Given the description of an element on the screen output the (x, y) to click on. 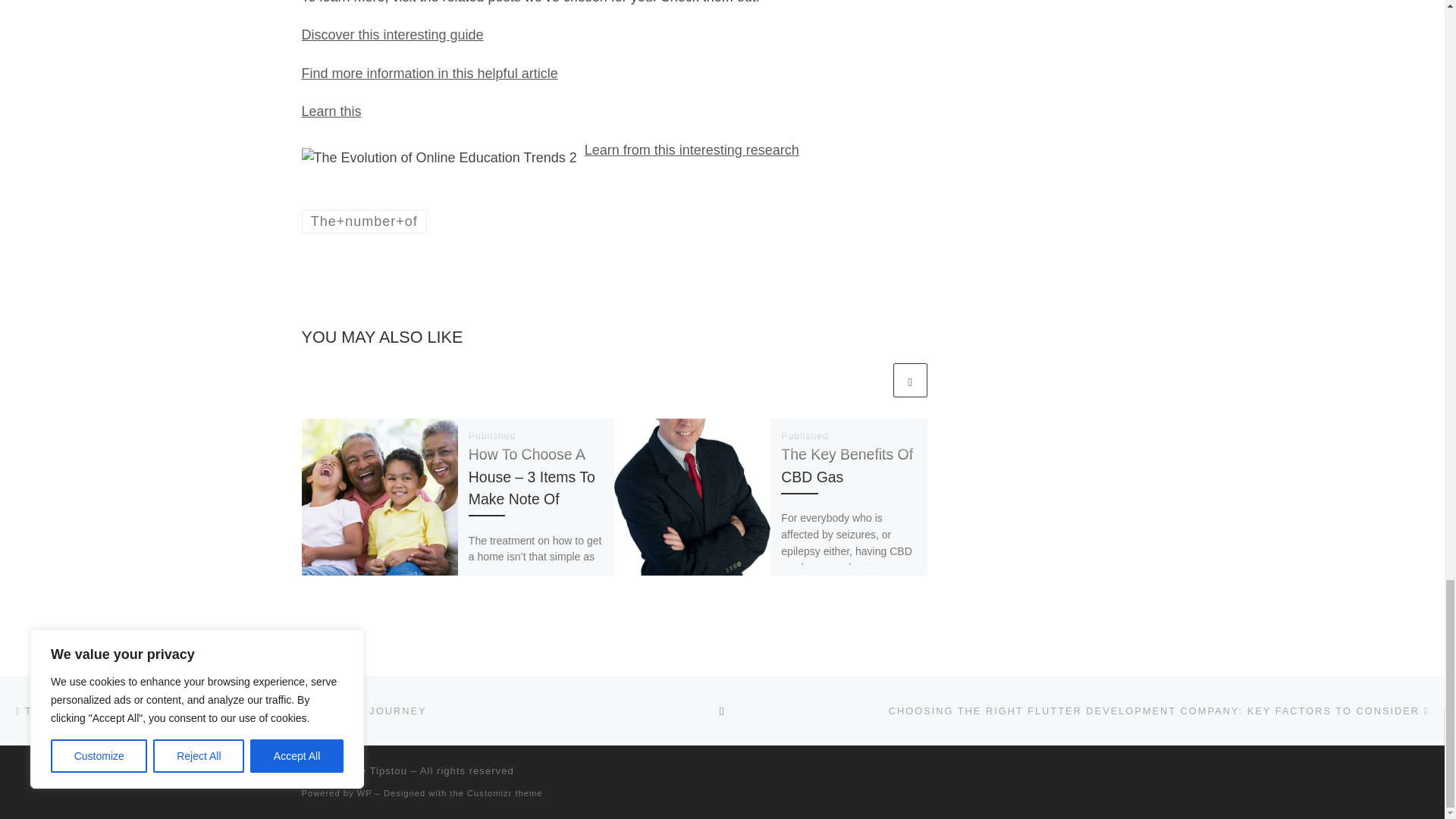
Previous related articles (872, 380)
Next related articles (910, 380)
Discover this interesting guide (392, 34)
Customizr theme (505, 792)
Learn from this interesting research (692, 150)
Love Tipstou (374, 770)
Powered by WordPress (364, 792)
Learn this (331, 111)
Find more information in this helpful article (429, 73)
